Given the description of an element on the screen output the (x, y) to click on. 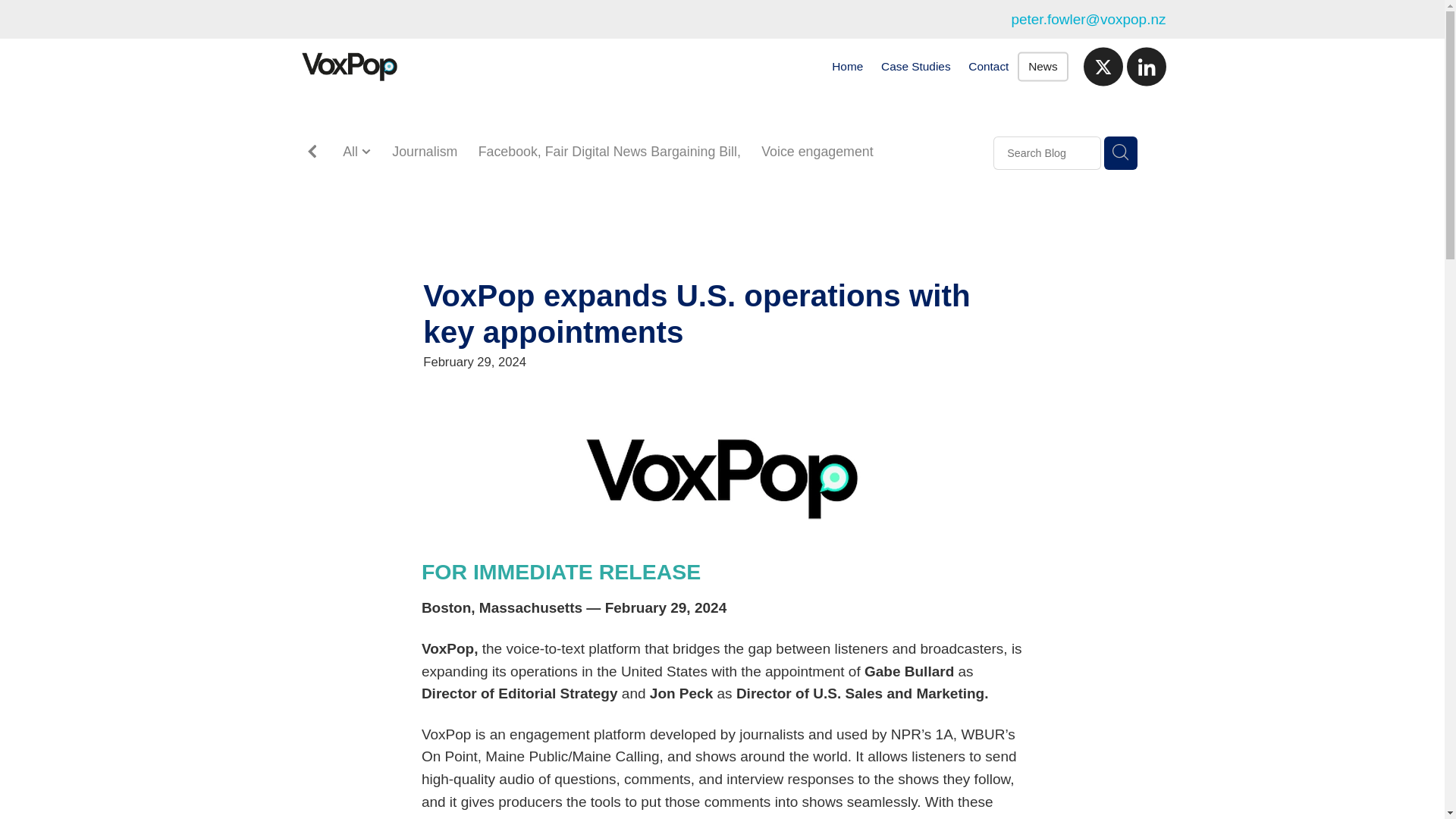
Gabe Bullard (491, 172)
Kinga VoxPop Ltd (605, 172)
Home (847, 67)
Cyclone Gabrielle (732, 172)
Facebook, Fair Digital News Bargaining Bill, (610, 151)
Jonathan Peck (387, 172)
Voice engagement (816, 151)
Journalism (424, 151)
Radio Hawke's Bay (866, 172)
Case Studies (915, 67)
A link to this website's LinkedIn. (1146, 66)
News (1042, 66)
All (351, 151)
Contact (988, 67)
A link to this website's X. (1102, 66)
